Given the description of an element on the screen output the (x, y) to click on. 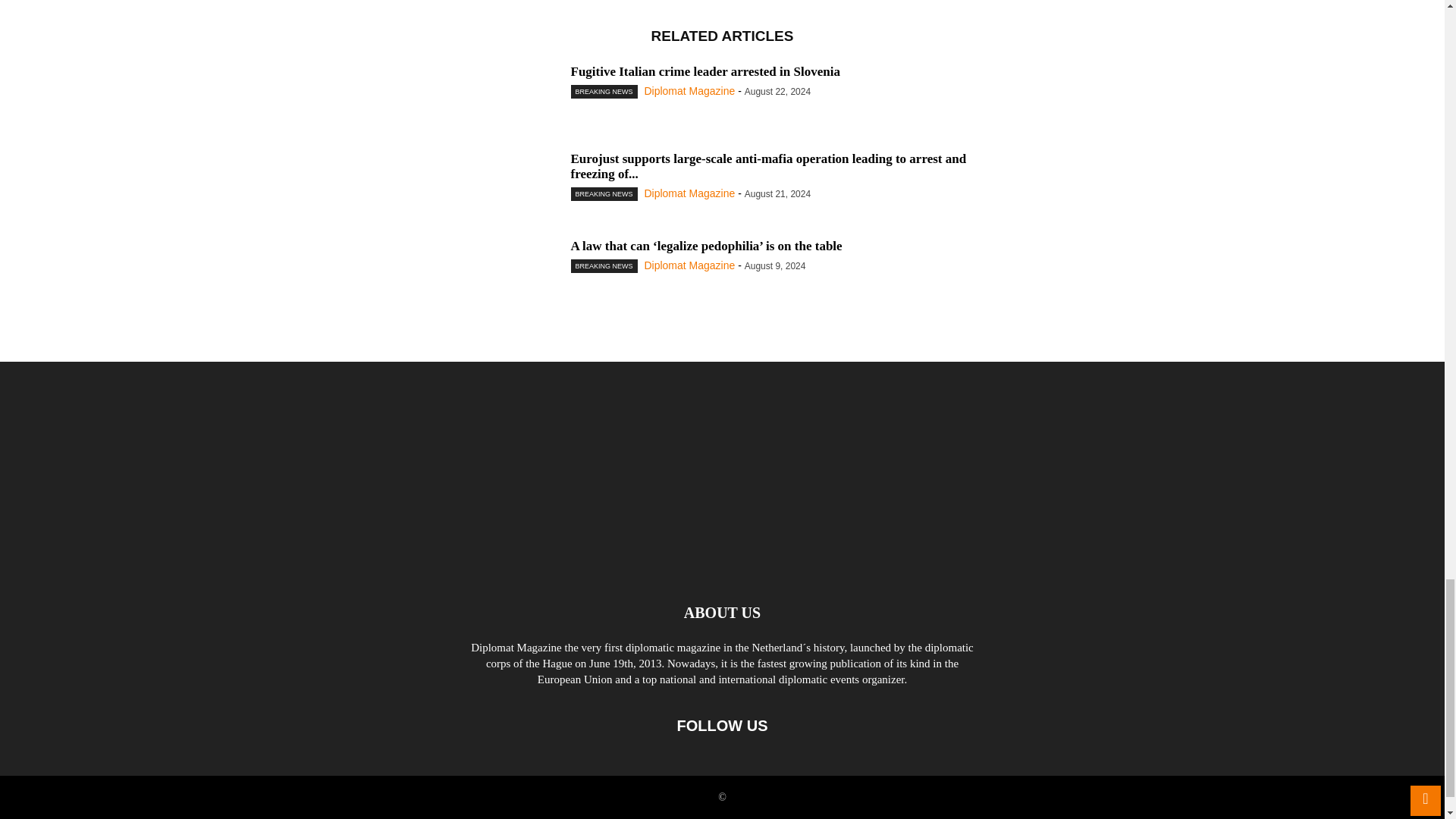
Diplomat Magazine (689, 91)
Diplomat Magazine (689, 193)
Fugitive Italian crime leader arrested in Slovenia (705, 71)
BREAKING NEWS (603, 193)
BREAKING NEWS (603, 91)
